Given the description of an element on the screen output the (x, y) to click on. 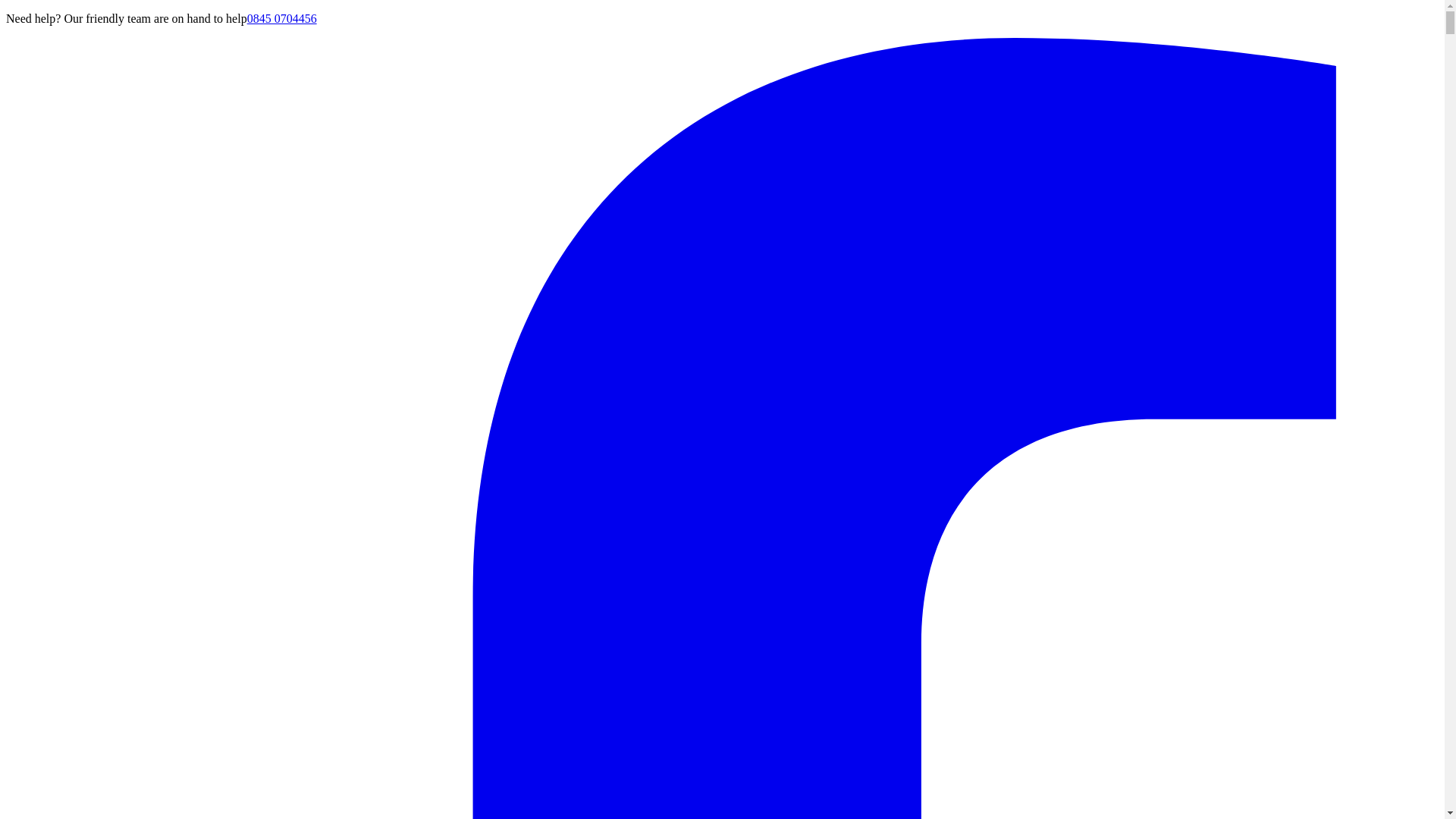
0845 0704456 (282, 18)
